Given the description of an element on the screen output the (x, y) to click on. 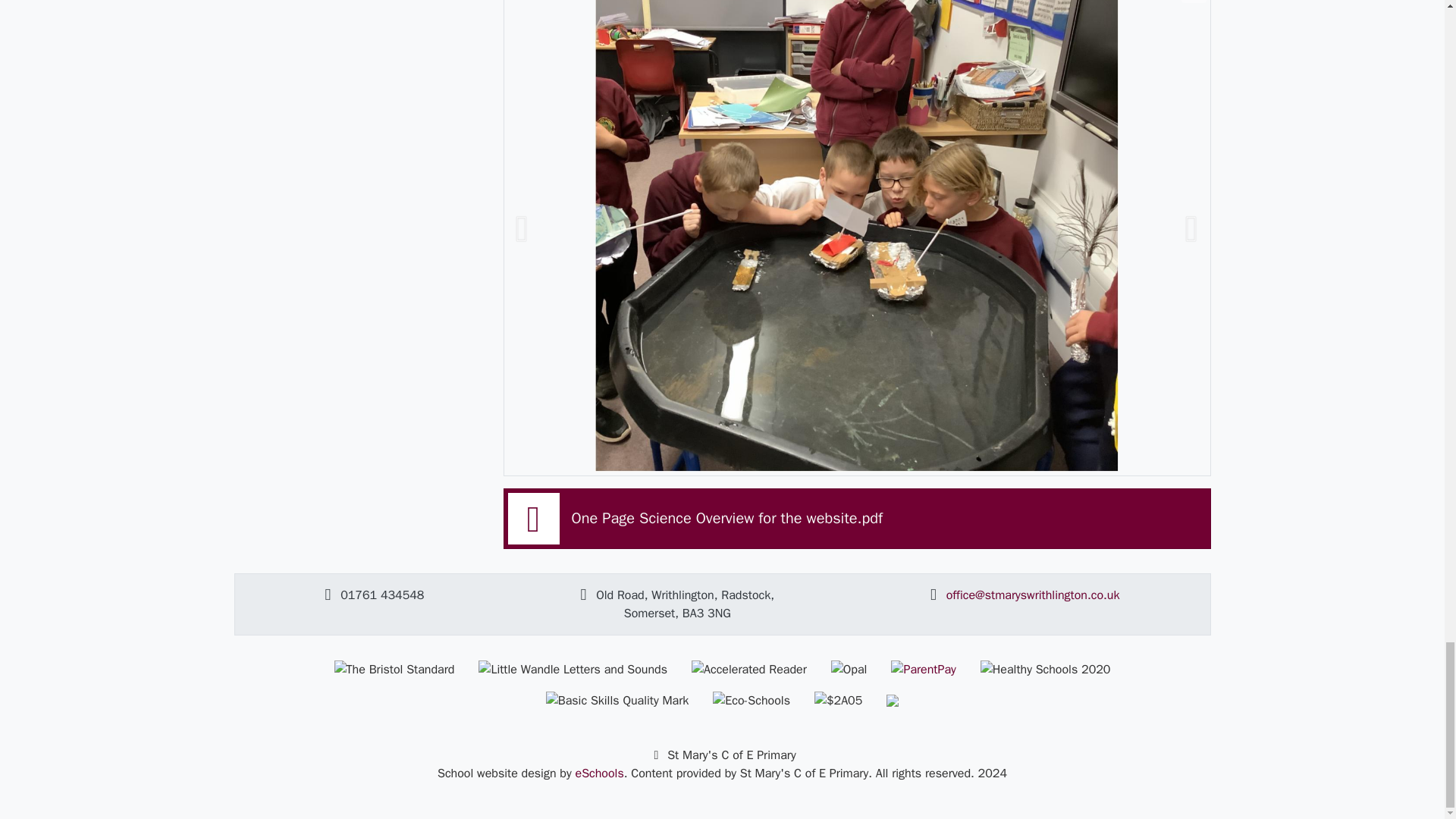
ParentPay (923, 669)
Eco-Schools (751, 700)
Opal (849, 669)
Little Wandle Letters and Sounds (572, 669)
Healthy Schools 2020 (1044, 669)
The Bristol Standard (394, 669)
Basic Skills Quality Mark (617, 700)
Accelerated Reader (748, 669)
